Given the description of an element on the screen output the (x, y) to click on. 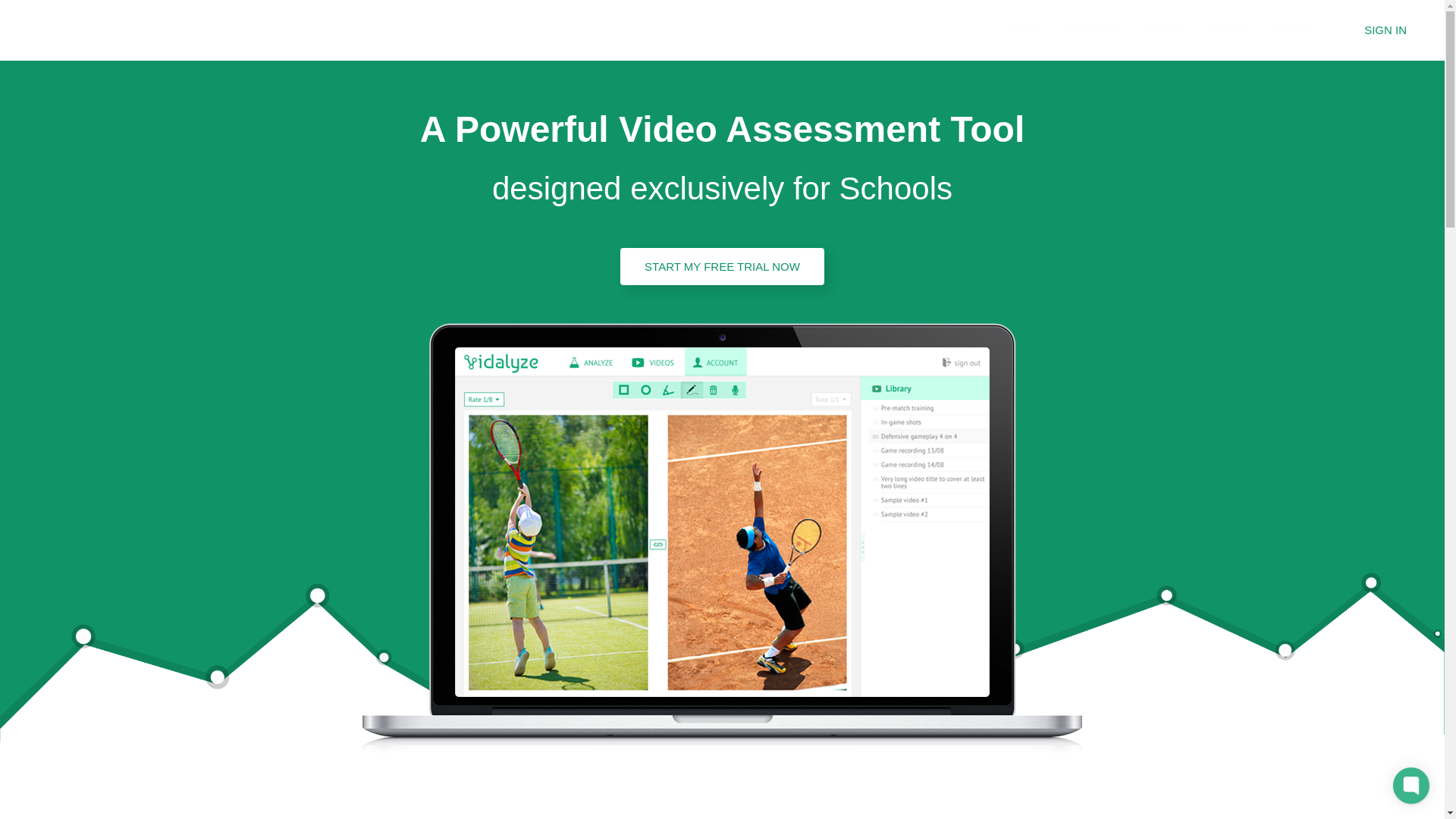
Support (1292, 30)
Home (1022, 30)
Pricing (1162, 30)
SIGN IN (1384, 30)
Resources (1090, 30)
START MY FREE TRIAL NOW (722, 266)
Rubrics (1226, 30)
